Given the description of an element on the screen output the (x, y) to click on. 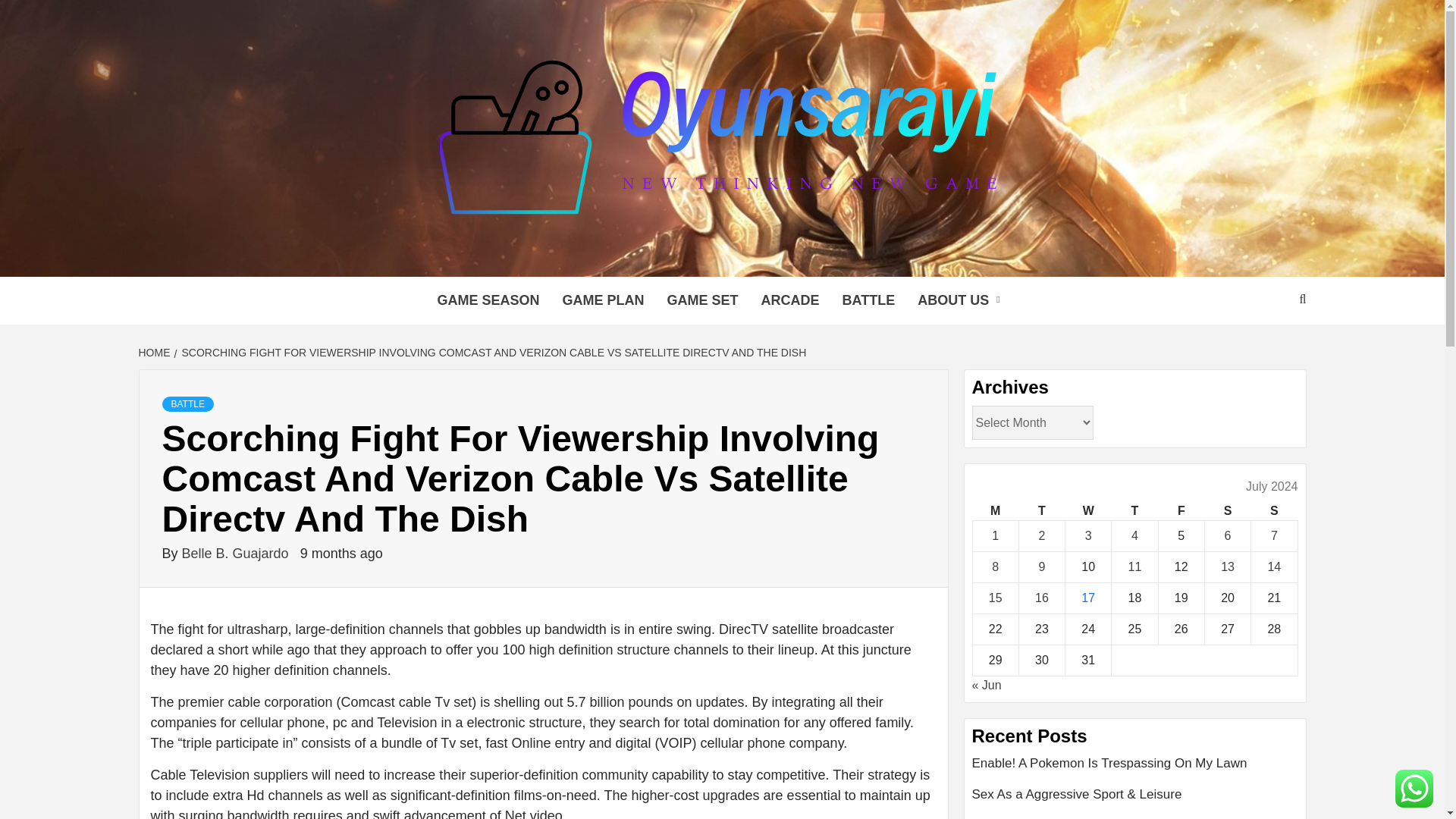
15 (995, 597)
GAME PLAN (602, 300)
OYUNSARAYI (391, 257)
6 (1227, 535)
14 (1273, 566)
13 (1227, 566)
Belle B. Guajardo (237, 553)
Tuesday (1040, 511)
Wednesday (1088, 511)
Sunday (1273, 511)
7 (1274, 535)
ABOUT US (961, 300)
Saturday (1227, 511)
GAME SEASON (487, 300)
